Given the description of an element on the screen output the (x, y) to click on. 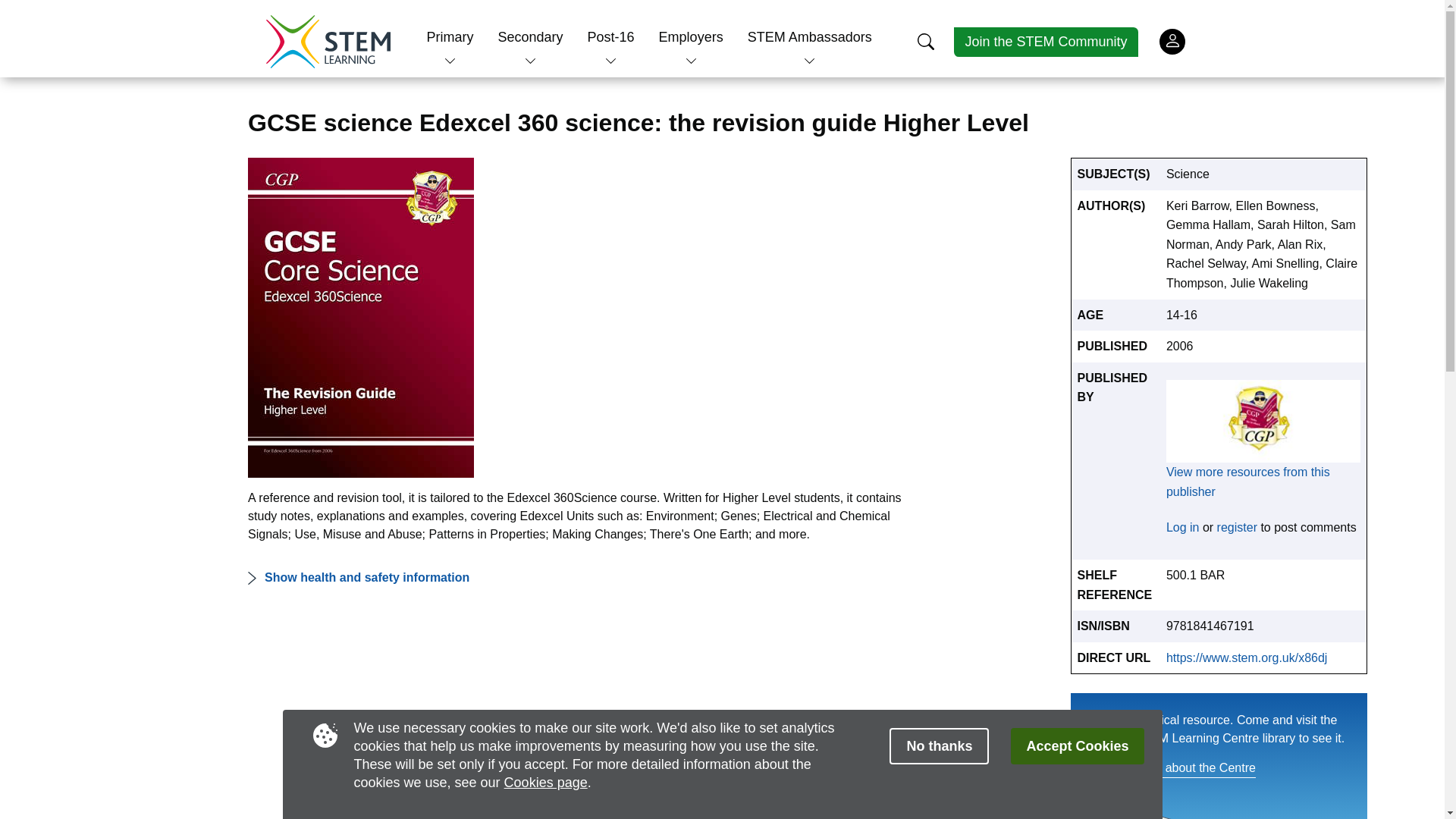
Employers (691, 37)
Primary (449, 37)
Home (327, 40)
Secondary (529, 37)
Post-16 (611, 37)
STEM Ambassadors (810, 37)
